Given the description of an element on the screen output the (x, y) to click on. 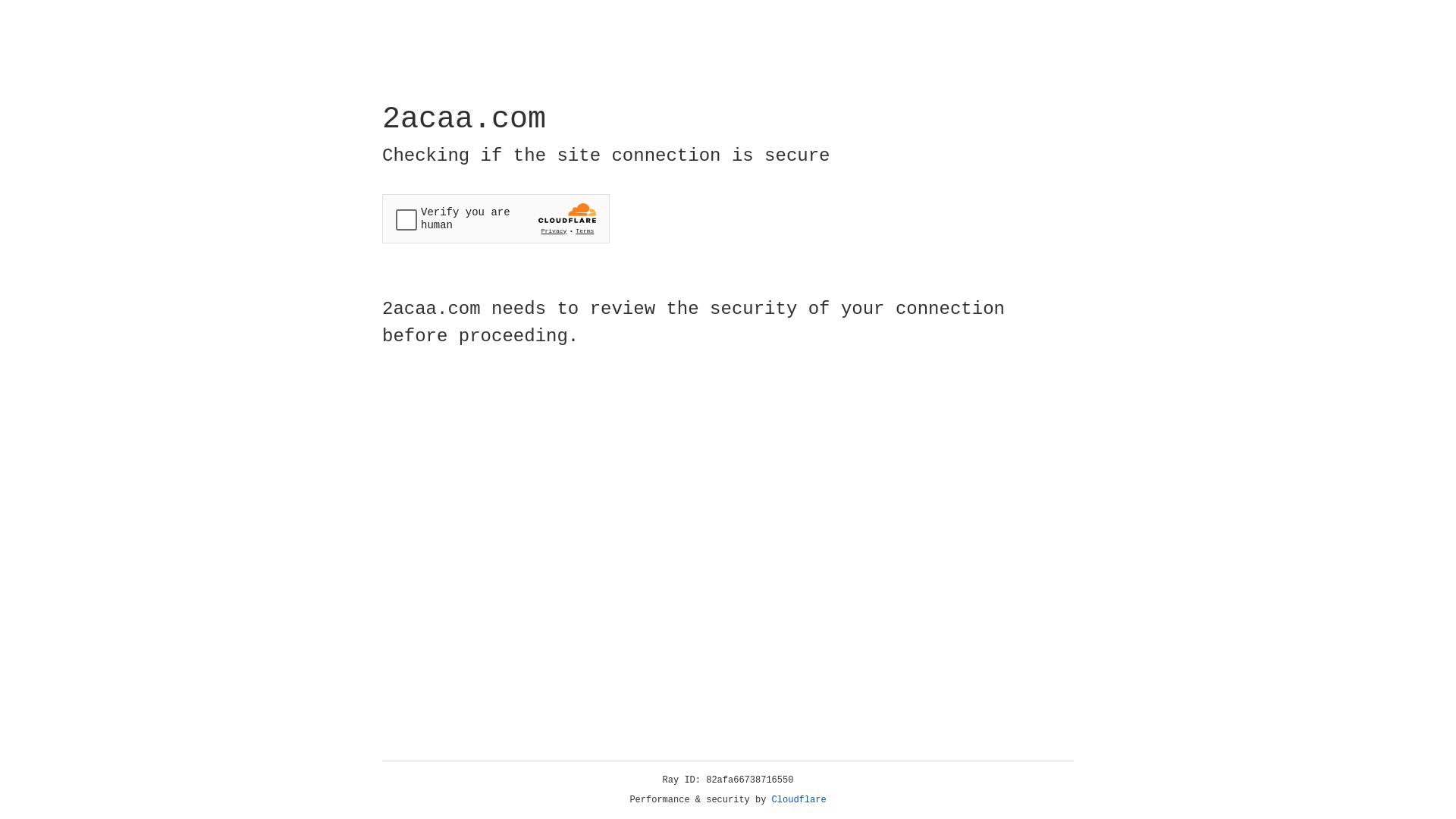
Cloudflare Element type: text (798, 799)
Widget containing a Cloudflare security challenge Element type: hover (495, 218)
